Given the description of an element on the screen output the (x, y) to click on. 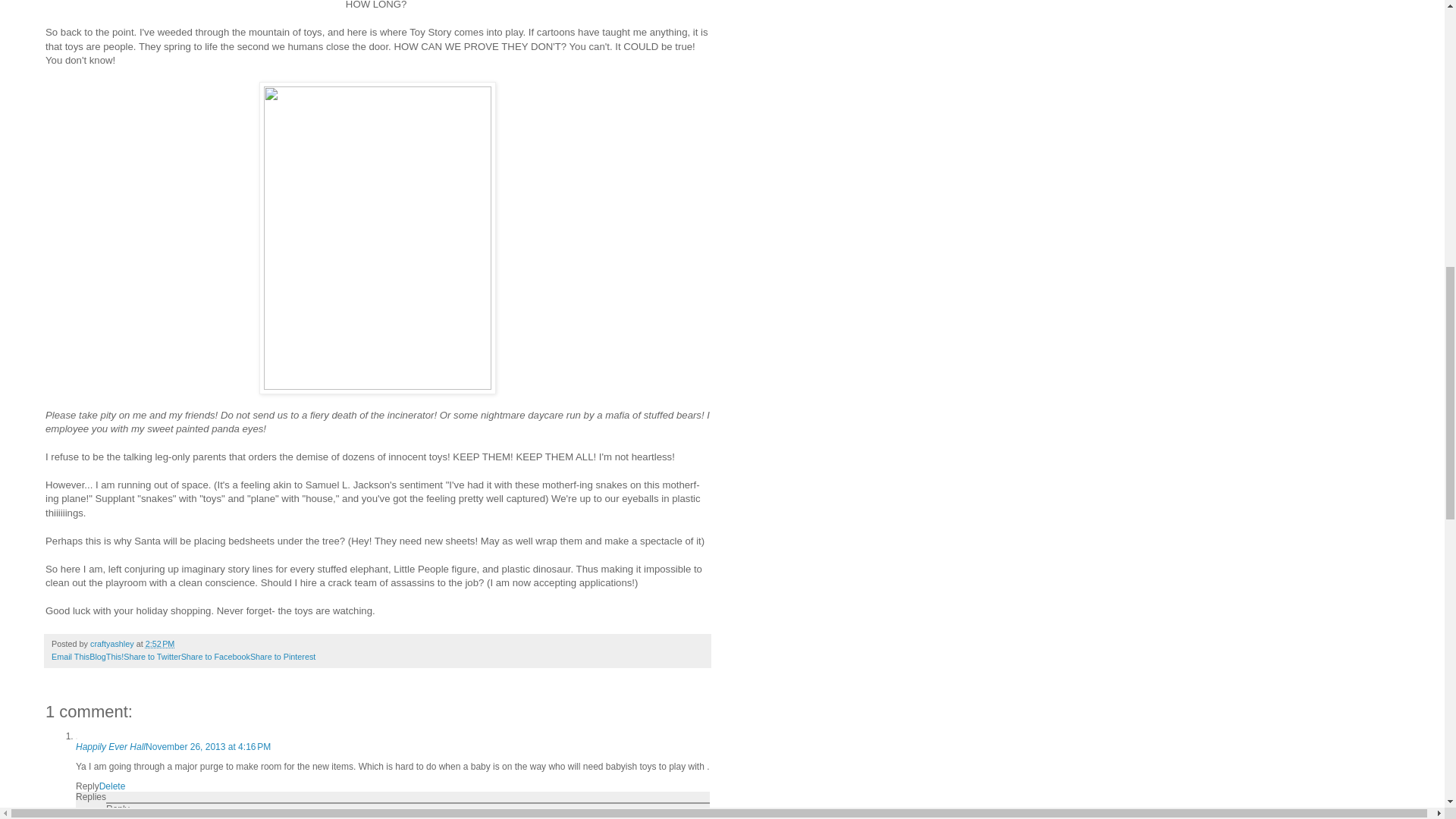
Delete (112, 786)
BlogThis! (105, 655)
Share to Facebook (215, 655)
craftyashley (113, 643)
Replies (90, 796)
BlogThis! (105, 655)
Reply (117, 808)
Share to Pinterest (282, 655)
Share to Twitter (151, 655)
Share to Facebook (215, 655)
Email This (69, 655)
Share to Pinterest (282, 655)
Happily Ever Hall (110, 747)
permanent link (159, 643)
